Given the description of an element on the screen output the (x, y) to click on. 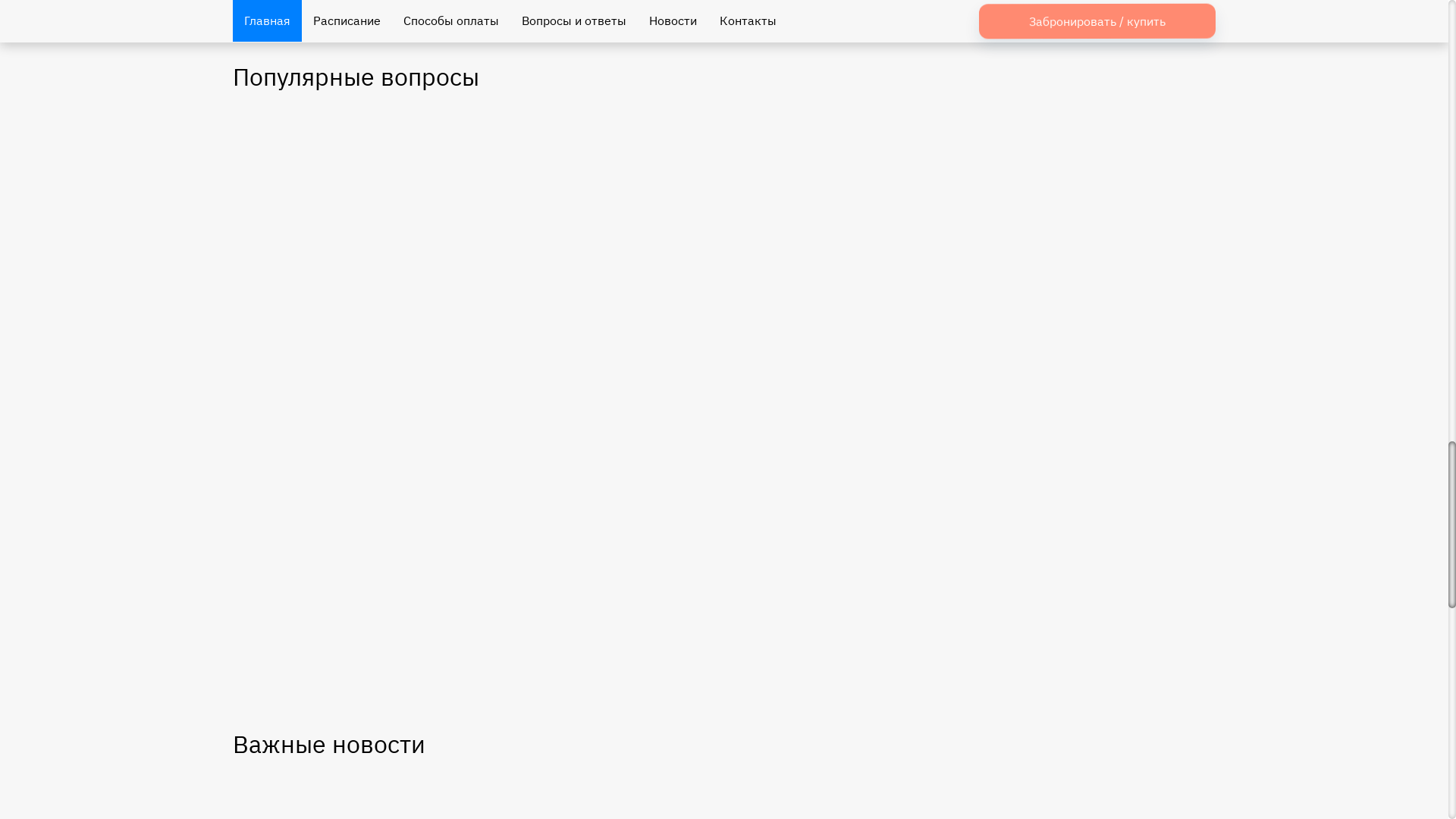
+7 925 311-92-35 Element type: text (1150, 37)
+375 29 660-99-88 Element type: text (646, 38)
+375 33 660-99-88 Element type: text (896, 37)
